Given the description of an element on the screen output the (x, y) to click on. 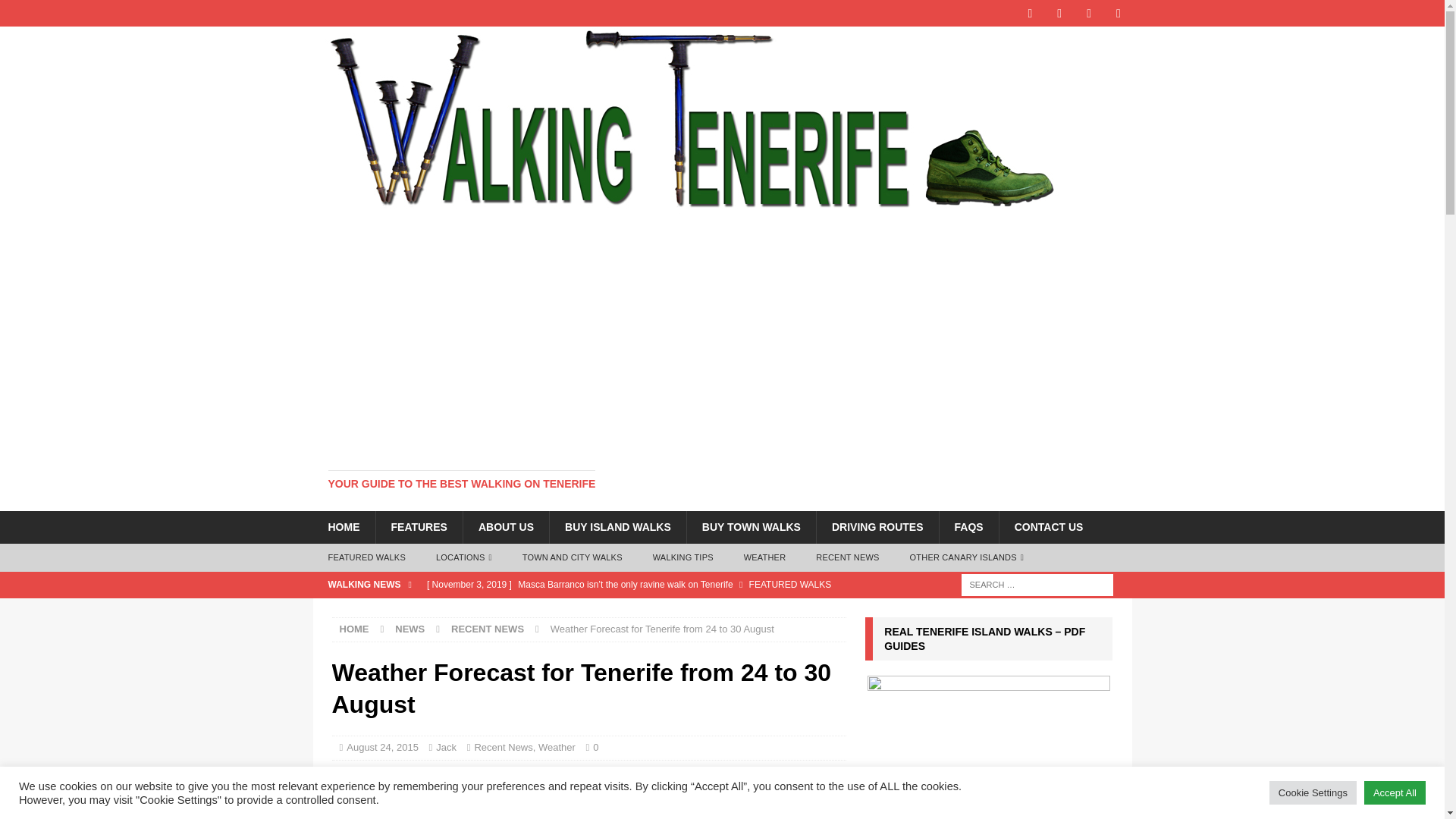
RECENT NEWS (846, 557)
BUY TOWN WALKS (750, 526)
OTHER CANARY ISLANDS (967, 557)
FAQS (968, 526)
YOUR GUIDE TO THE BEST WALKING ON TENERIFE (461, 483)
LOCATIONS (463, 557)
Hearts of Tejina, Tenerife (588, 797)
TOWN AND CITY WALKS (571, 557)
FEATURES (417, 526)
WALKING TIPS (683, 557)
WEATHER (765, 557)
ABOUT US (505, 526)
HOME (343, 526)
BUY ISLAND WALKS (616, 526)
